Given the description of an element on the screen output the (x, y) to click on. 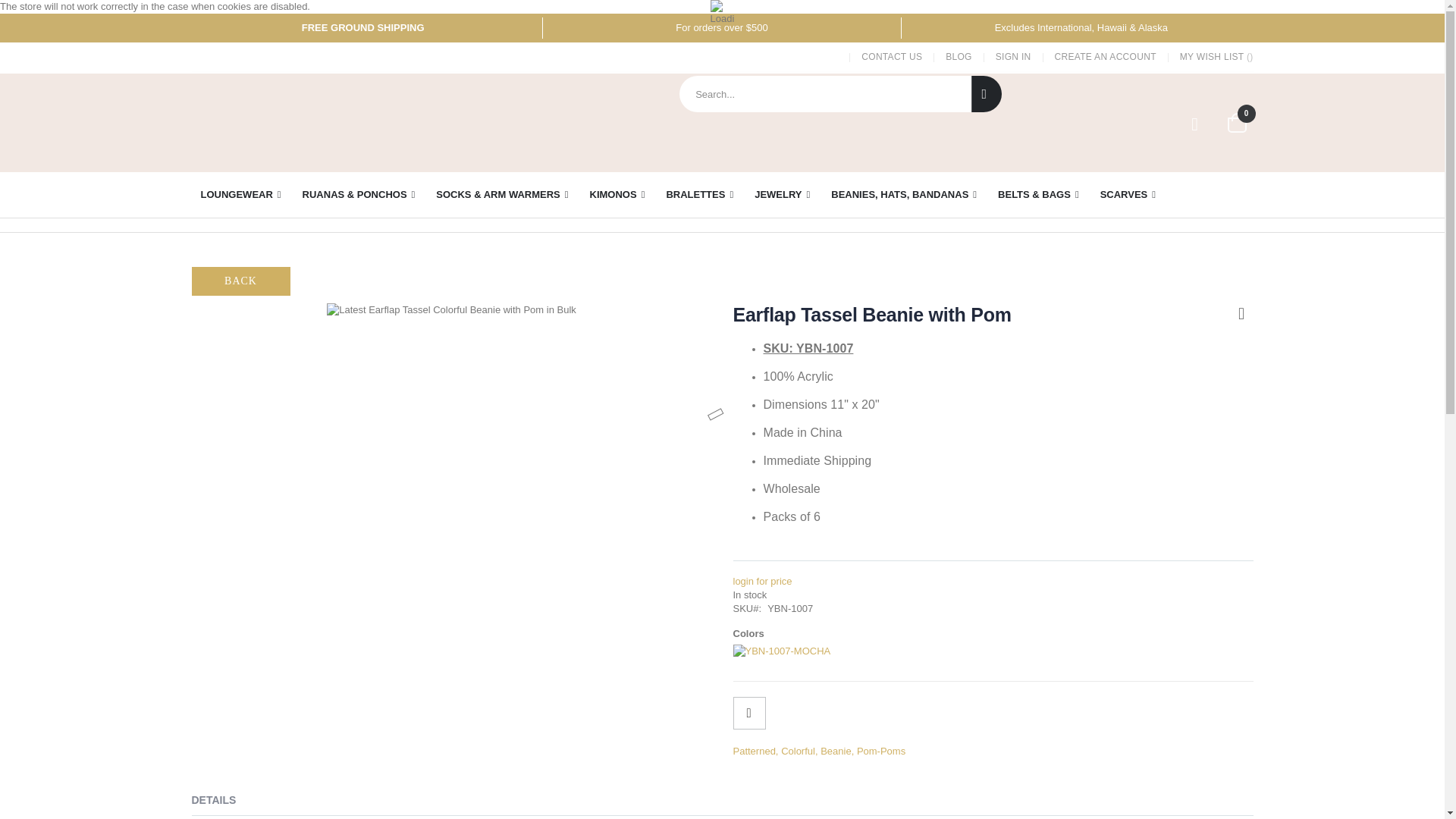
Kimonos (616, 194)
SIGN IN (1013, 56)
KIMONOS (616, 194)
BLOG (959, 56)
JEWELRY (781, 194)
CREATE AN ACCOUNT (1105, 56)
MY WISH LIST (1211, 56)
BRALETTES (699, 194)
Bralettes (699, 194)
CONTACT US (891, 56)
My Wish List (1195, 124)
